Given the description of an element on the screen output the (x, y) to click on. 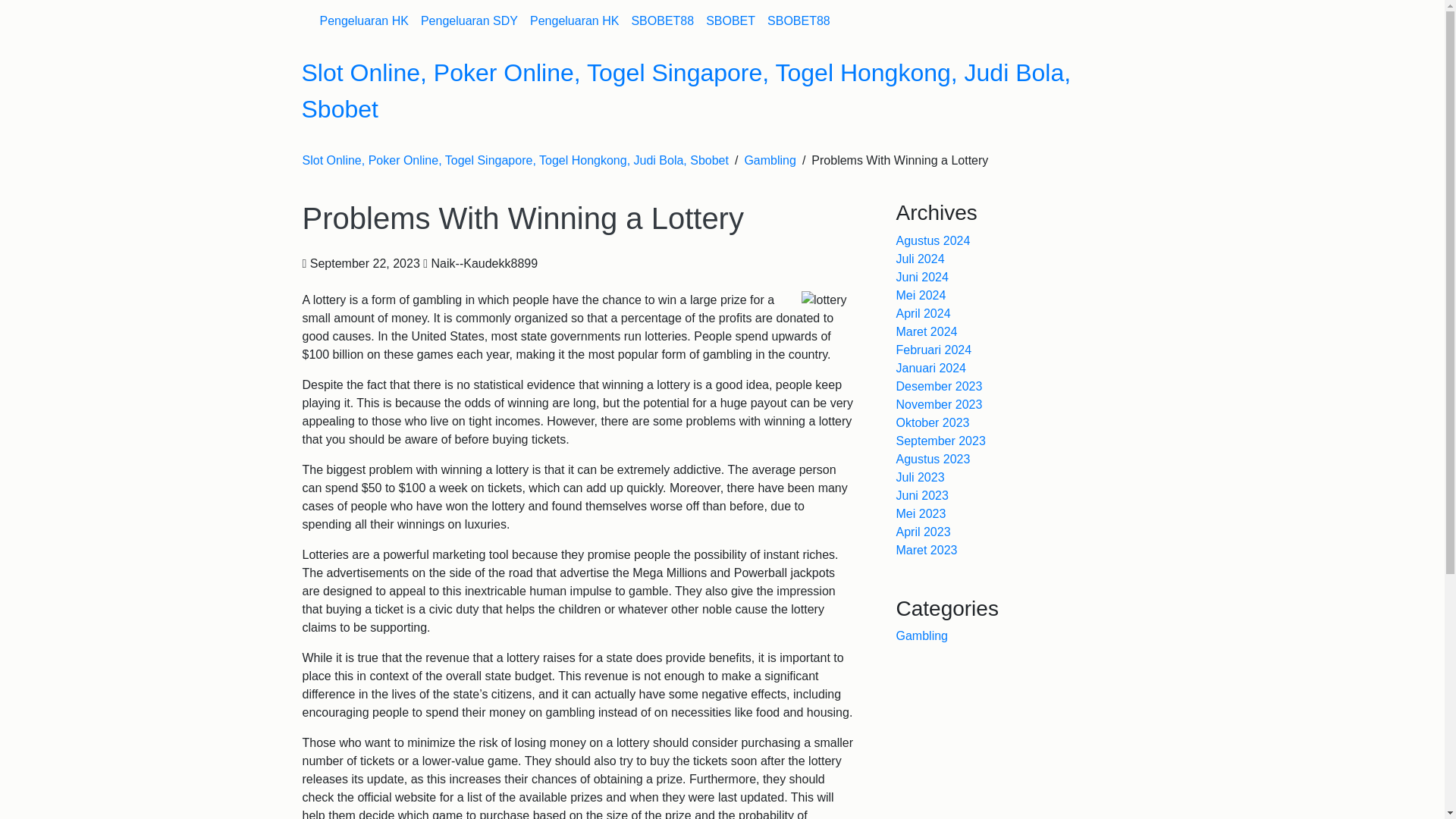
Juni 2024 (922, 277)
September 2023 (940, 440)
SBOBET88 (662, 20)
April 2023 (923, 531)
Mei 2024 (921, 295)
Agustus 2024 (933, 240)
Desember 2023 (939, 386)
Februari 2024 (934, 349)
SBOBET (730, 20)
SBOBET (730, 20)
